Given the description of an element on the screen output the (x, y) to click on. 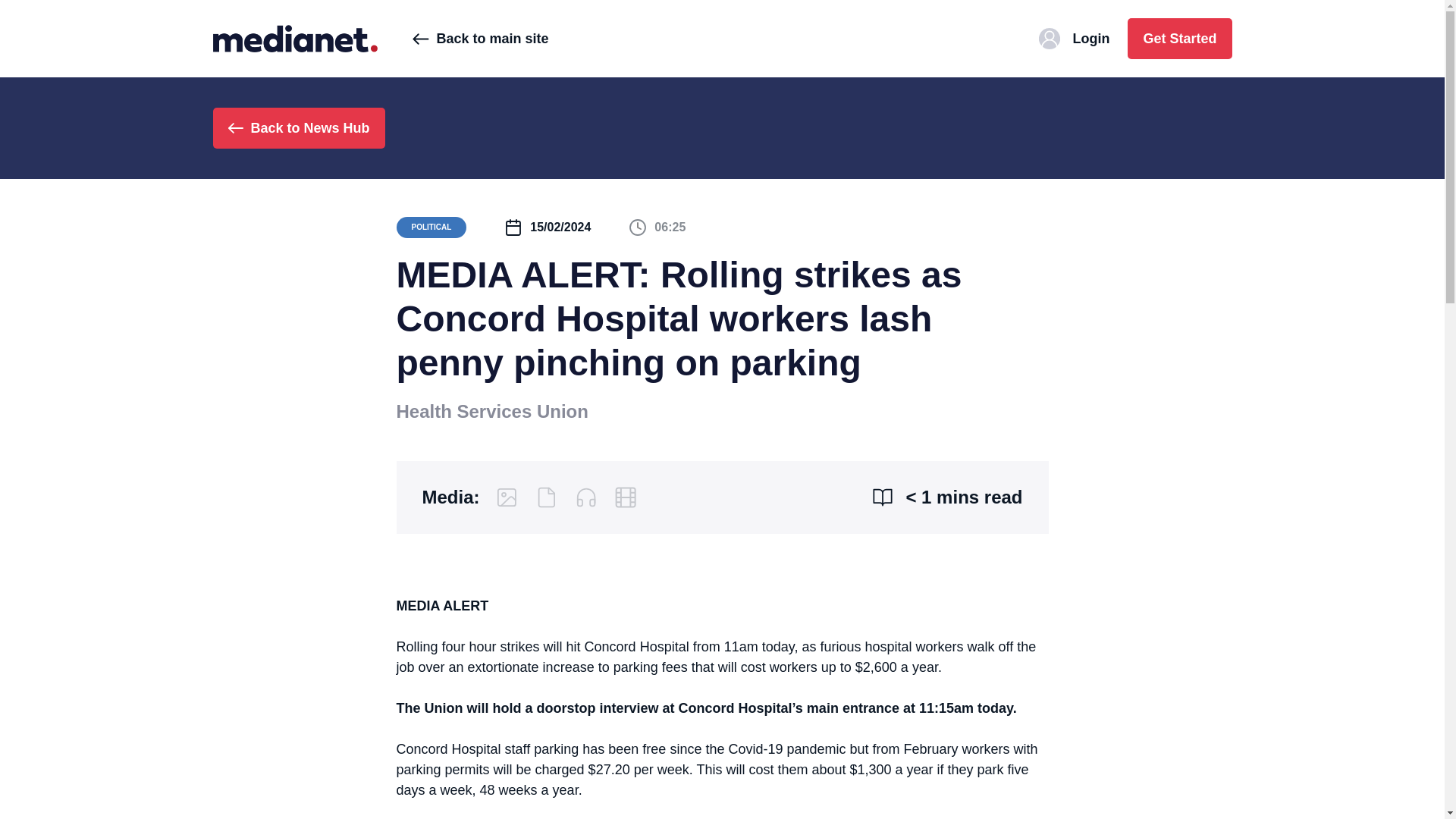
Login (1074, 38)
Back to main site (480, 38)
News Hub (294, 38)
No audio attachments (585, 497)
No file attachments (546, 497)
Get Started (1178, 38)
No image attachments (507, 497)
Back to News Hub (298, 127)
No video attachments (624, 497)
